Given the description of an element on the screen output the (x, y) to click on. 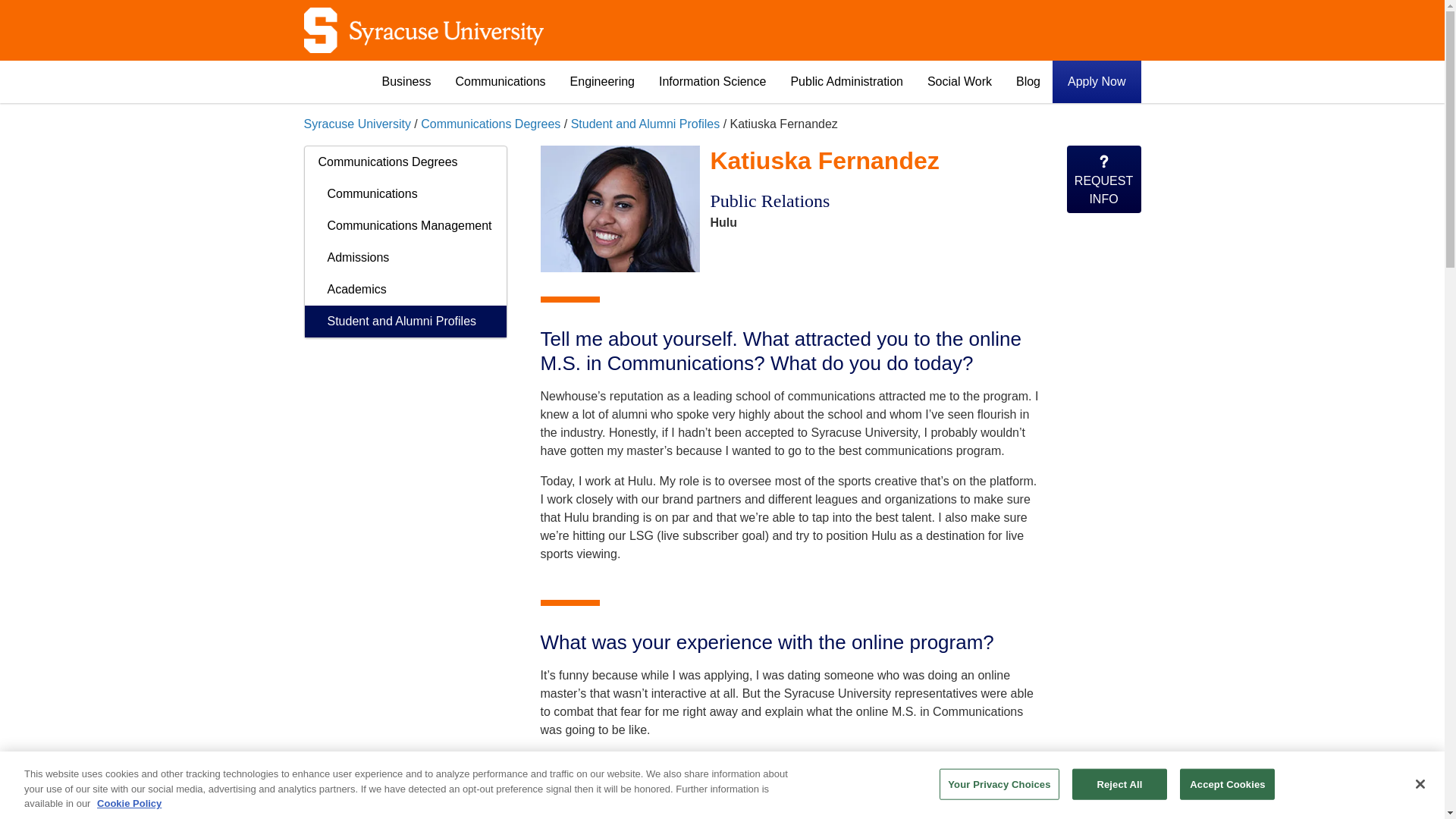
Communications (499, 81)
Business (406, 81)
Engineering (601, 81)
Information Science (711, 81)
